Given the description of an element on the screen output the (x, y) to click on. 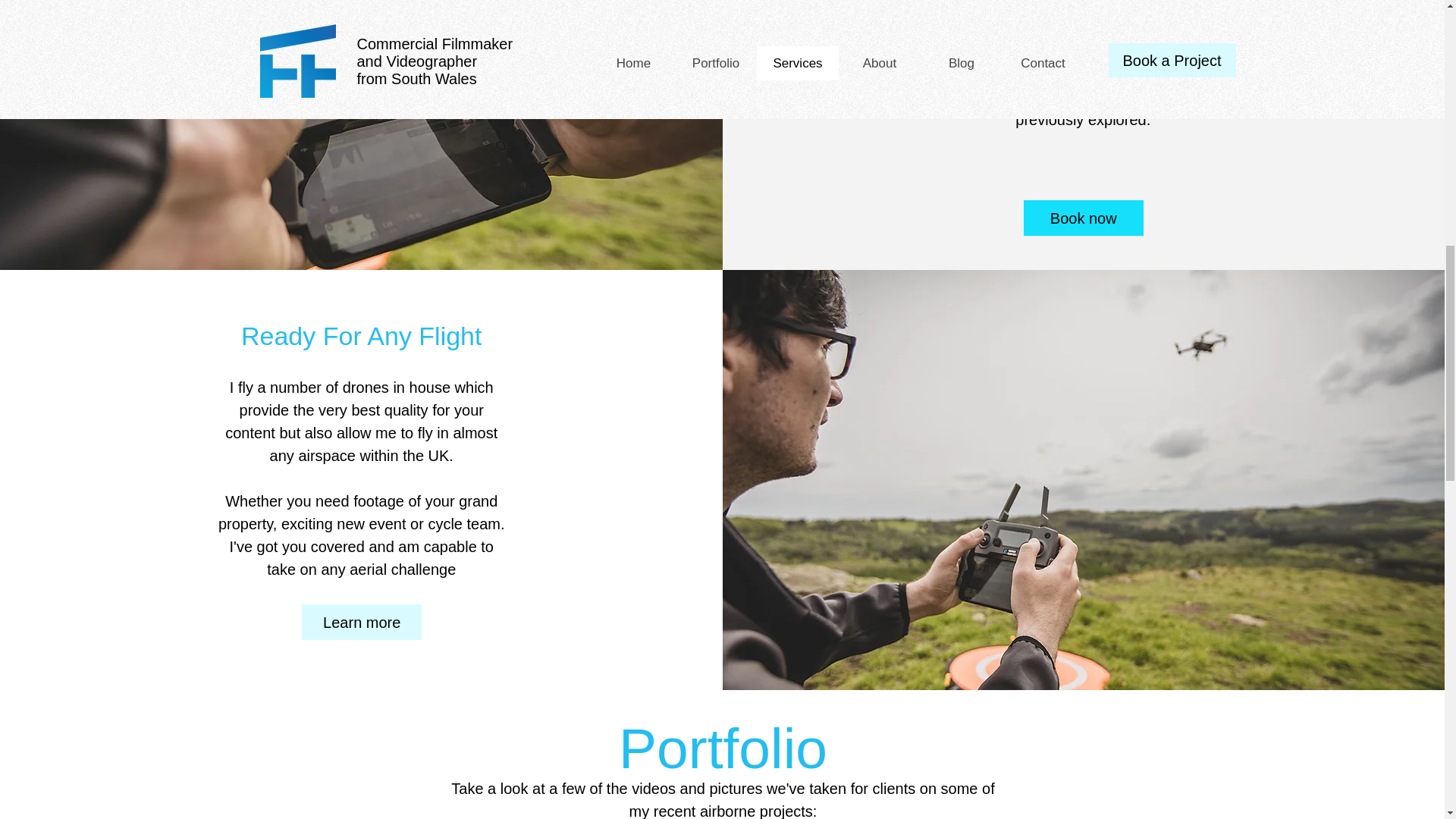
Book now (1082, 217)
Learn more (361, 621)
